Given the description of an element on the screen output the (x, y) to click on. 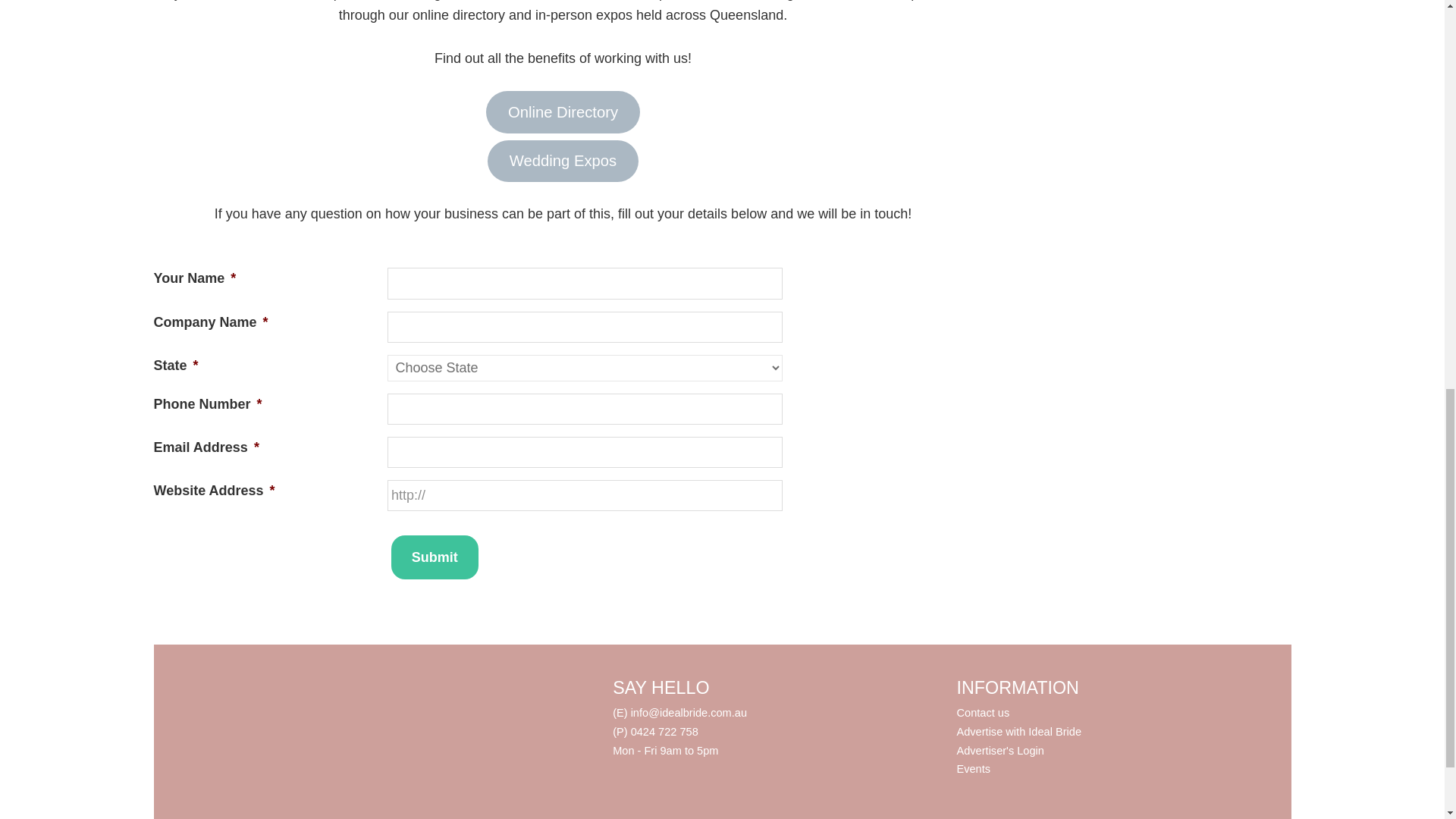
Submit (435, 557)
